Given the description of an element on the screen output the (x, y) to click on. 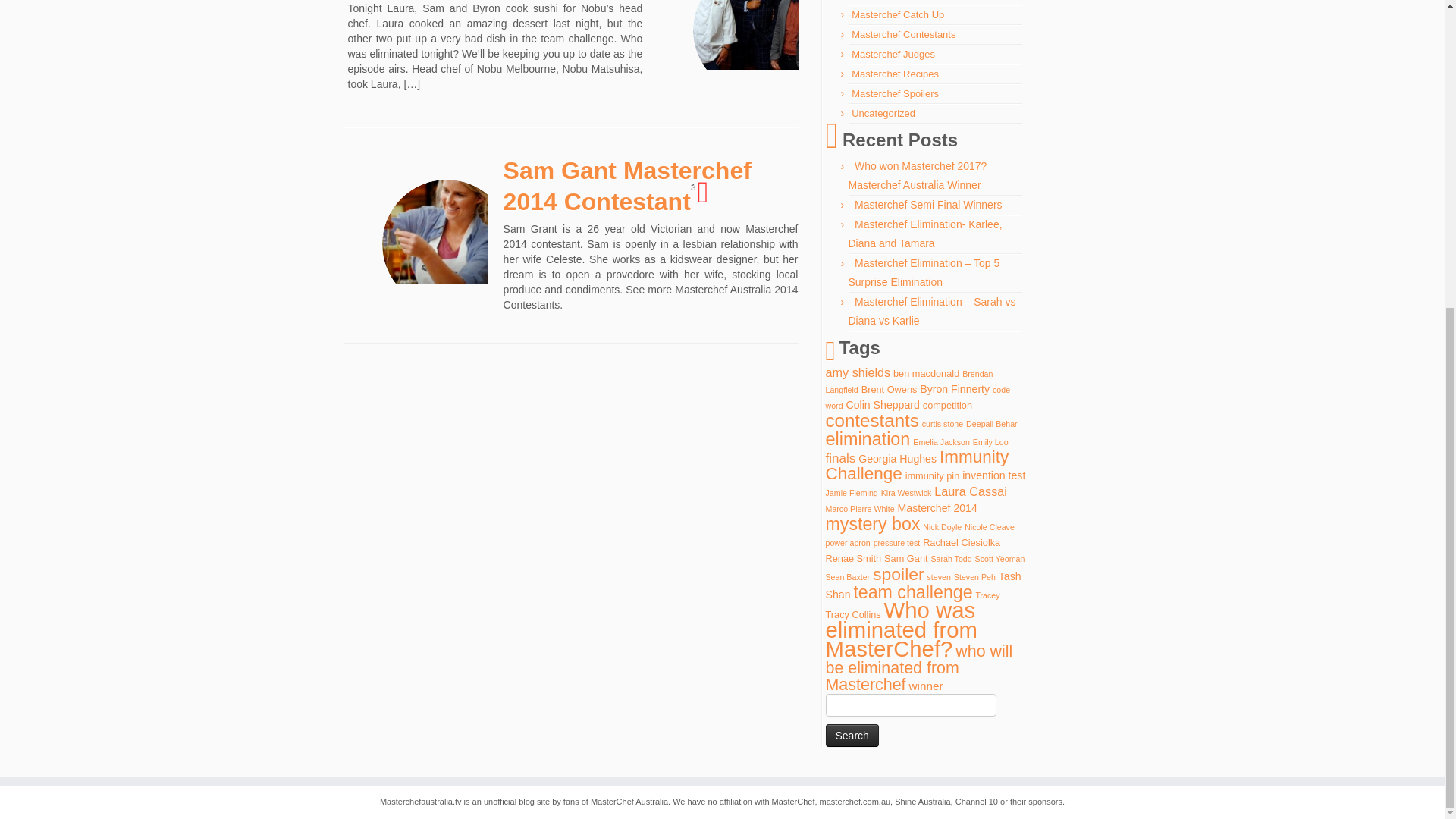
Brendan Langfield (908, 381)
Masterchef Contestants (903, 34)
code word (917, 397)
Masterchef Semi Final Winners (928, 204)
Who won Masterchef 2017? Masterchef Australia Winner (917, 174)
Byron Finnerty (955, 388)
Permalink to Sam Gant Masterchef 2014 Contestant (627, 186)
Colin Sheppard (882, 404)
Masterchef Catch Up (897, 14)
Who was eliminated? Laura, Sam or Byron? (757, 86)
Sam Gant Masterchef 2014 Contestant (627, 186)
Masterchef Judges (892, 53)
Search (851, 734)
Sam Gant Masterchef 2014 Contestant (445, 243)
